Given the description of an element on the screen output the (x, y) to click on. 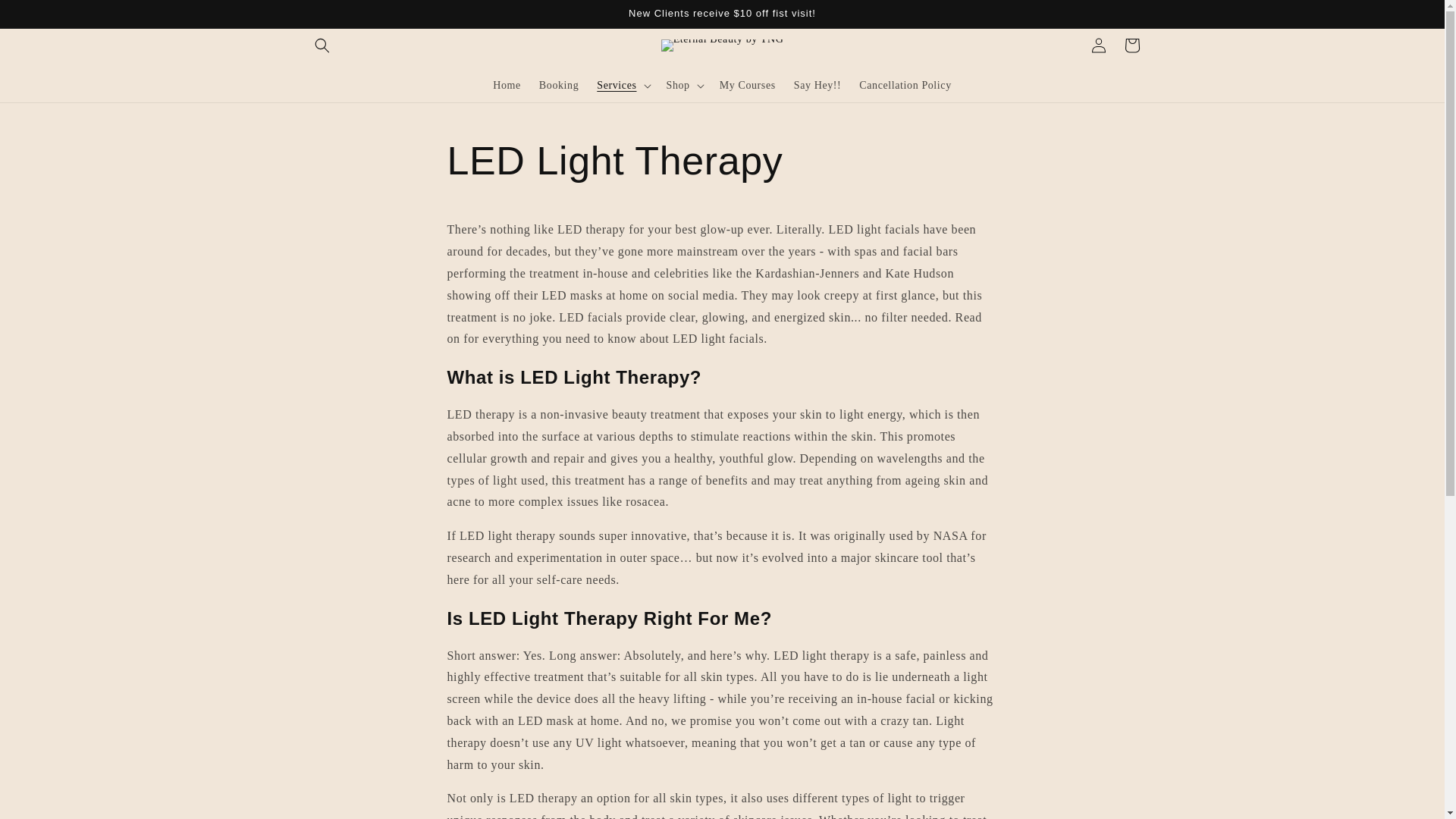
Skip to content (45, 17)
